Given the description of an element on the screen output the (x, y) to click on. 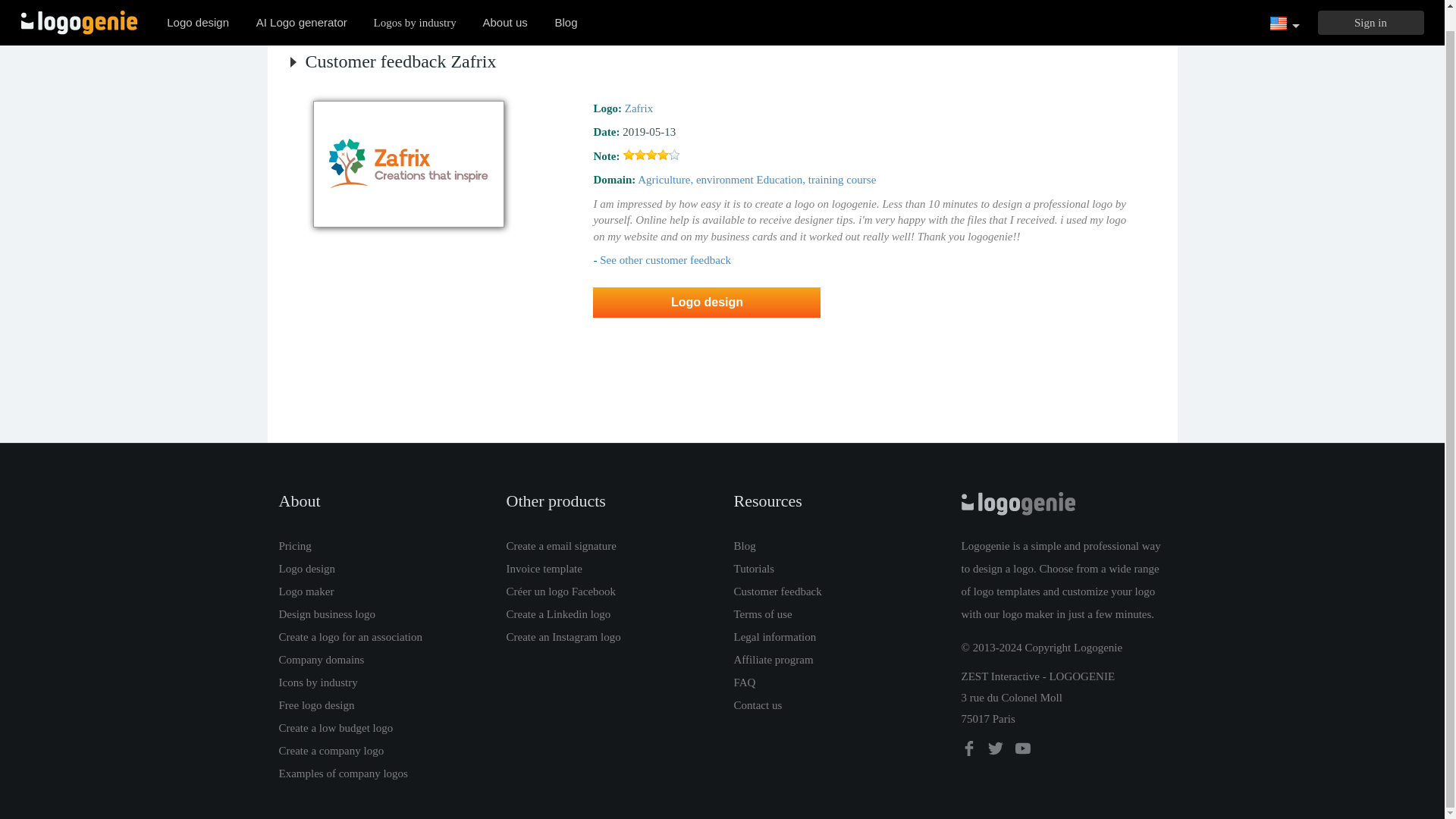
Logo design (197, 8)
AI Logo generator (301, 8)
Back to home (78, 7)
Back to home (78, 7)
Sign in (1370, 7)
AI Logo generator (301, 8)
Blog (565, 8)
About us (505, 8)
Logos by industry (414, 8)
Custom logo design (197, 8)
